Given the description of an element on the screen output the (x, y) to click on. 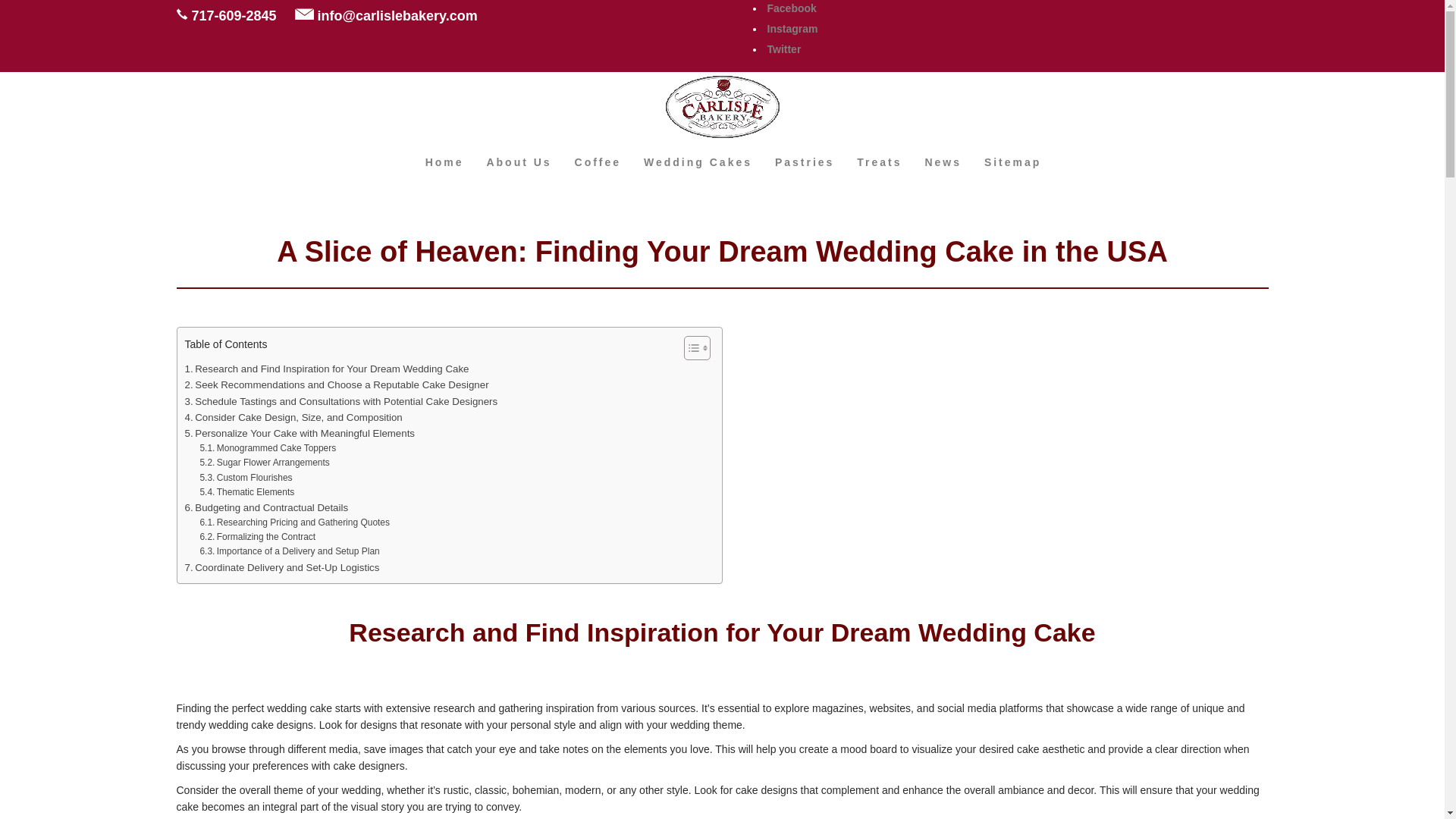
Pastries (803, 161)
Thematic Elements (246, 492)
Custom Flourishes (245, 477)
Treats (878, 161)
Personalize Your Cake with Meaningful Elements (299, 433)
Sugar Flower Arrangements (264, 462)
Consider Cake Design, Size, and Composition (293, 417)
About Us (518, 161)
Importance of a Delivery and Setup Plan (288, 551)
Instagram (792, 28)
 Budgeting and Contractual Details  (266, 507)
Home (444, 161)
Consider Cake Design, Size, and Composition (293, 417)
Coffee (598, 161)
